Given the description of an element on the screen output the (x, y) to click on. 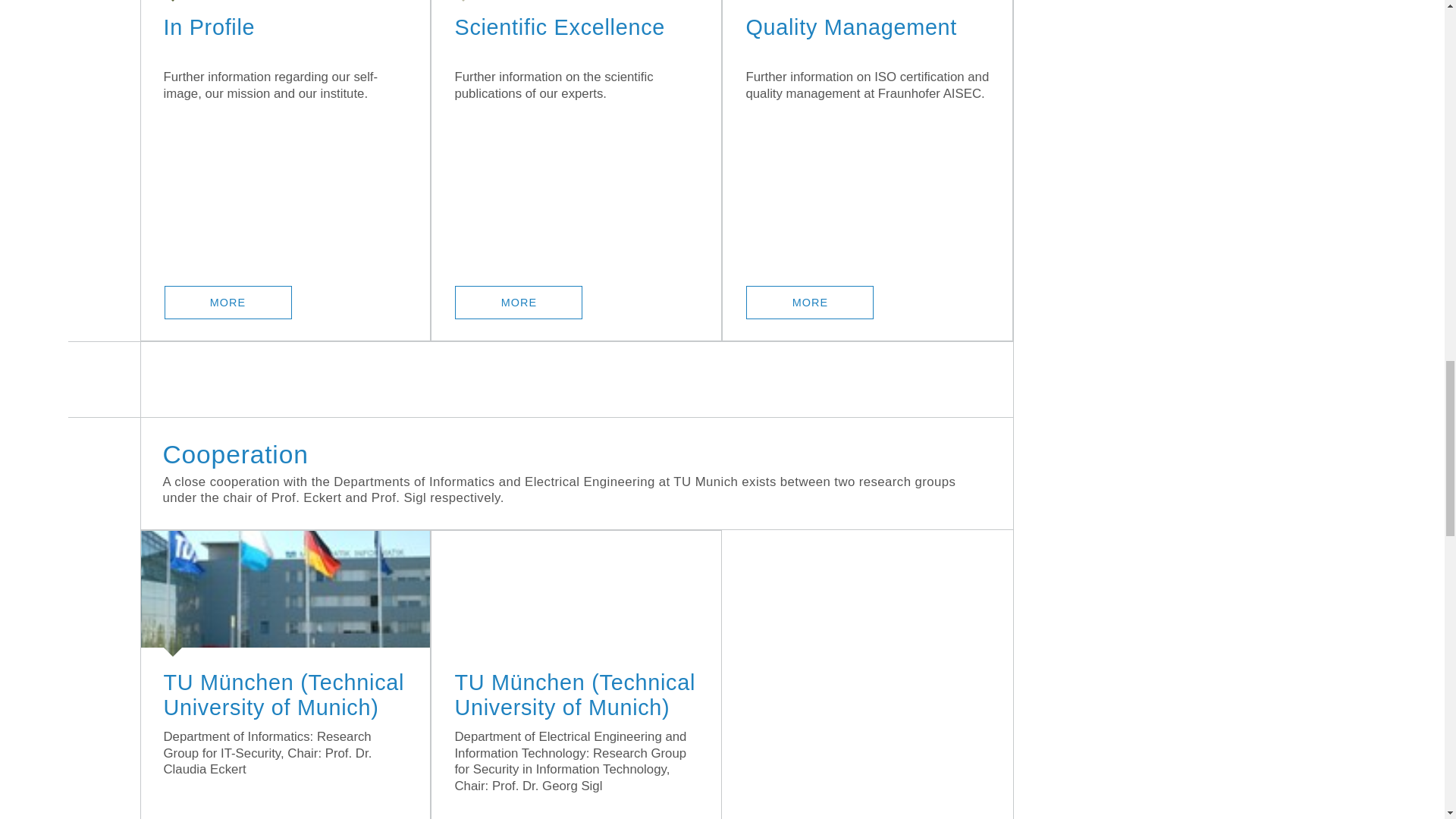
More (518, 302)
More (809, 302)
More (227, 302)
